Given the description of an element on the screen output the (x, y) to click on. 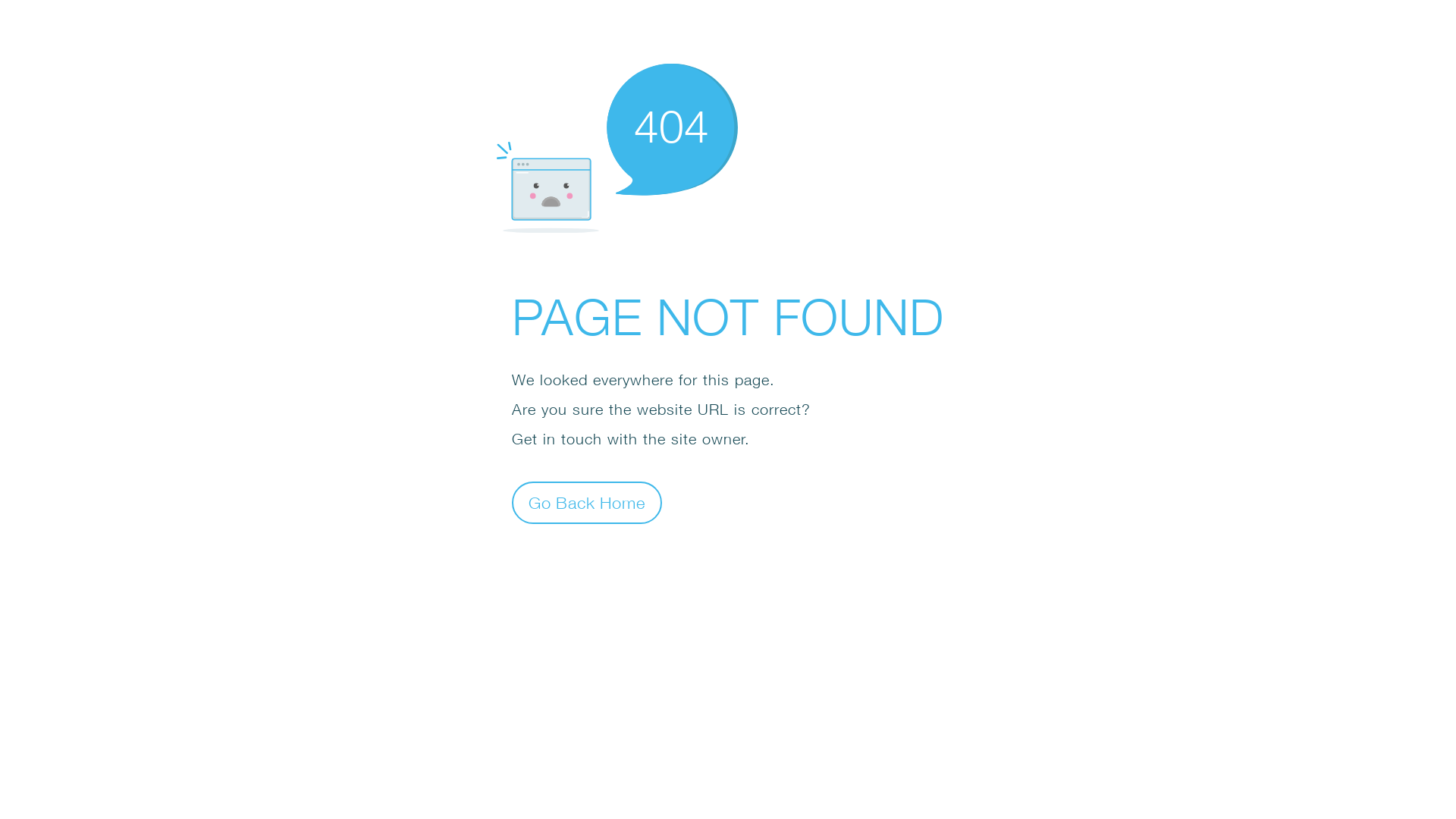
Go Back Home Element type: text (586, 502)
